Given the description of an element on the screen output the (x, y) to click on. 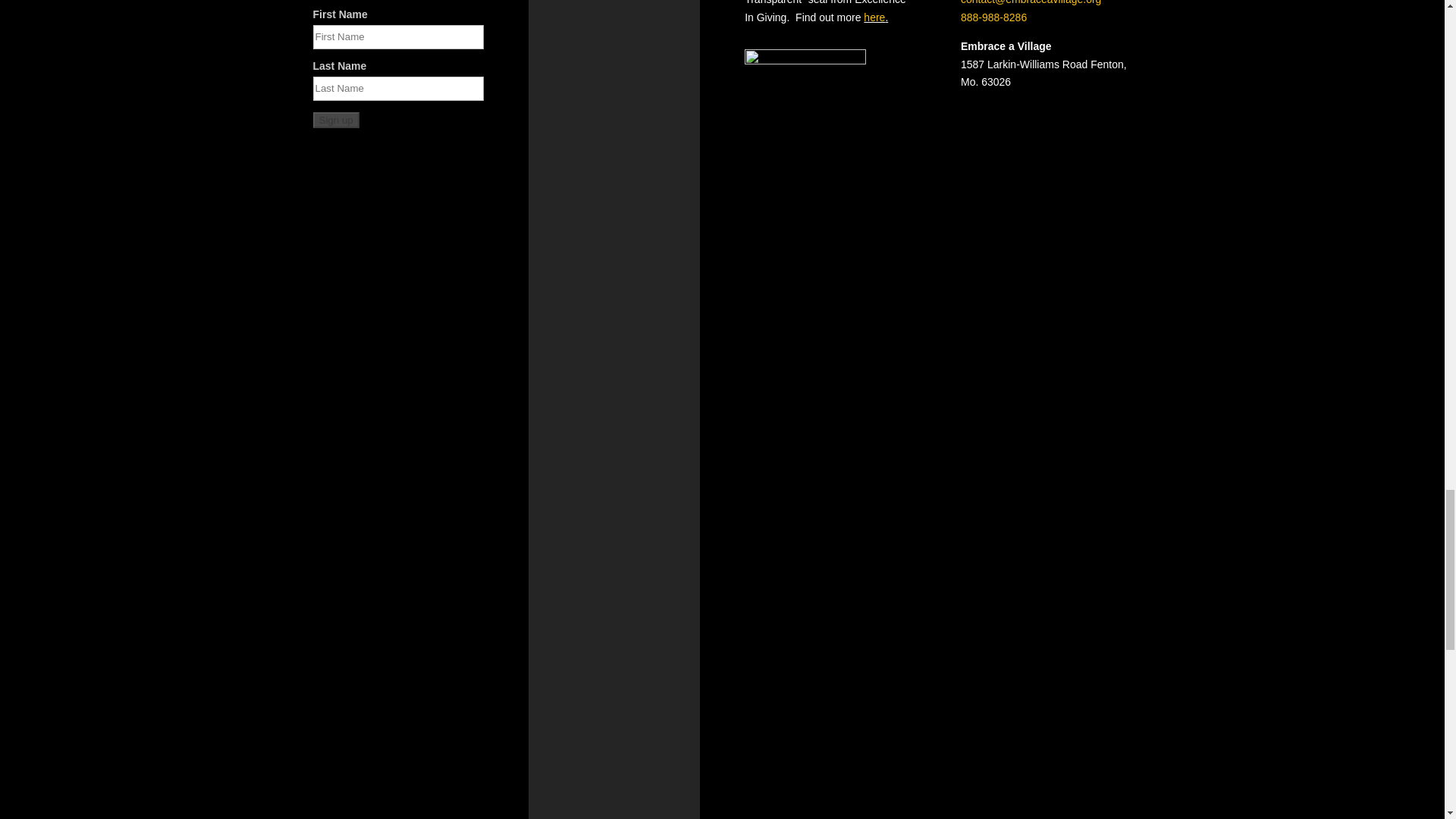
here (874, 17)
excellence-in-giving-160x160 (805, 109)
Sign up (335, 119)
Sign up (335, 119)
888-988-8286 (993, 17)
